Given the description of an element on the screen output the (x, y) to click on. 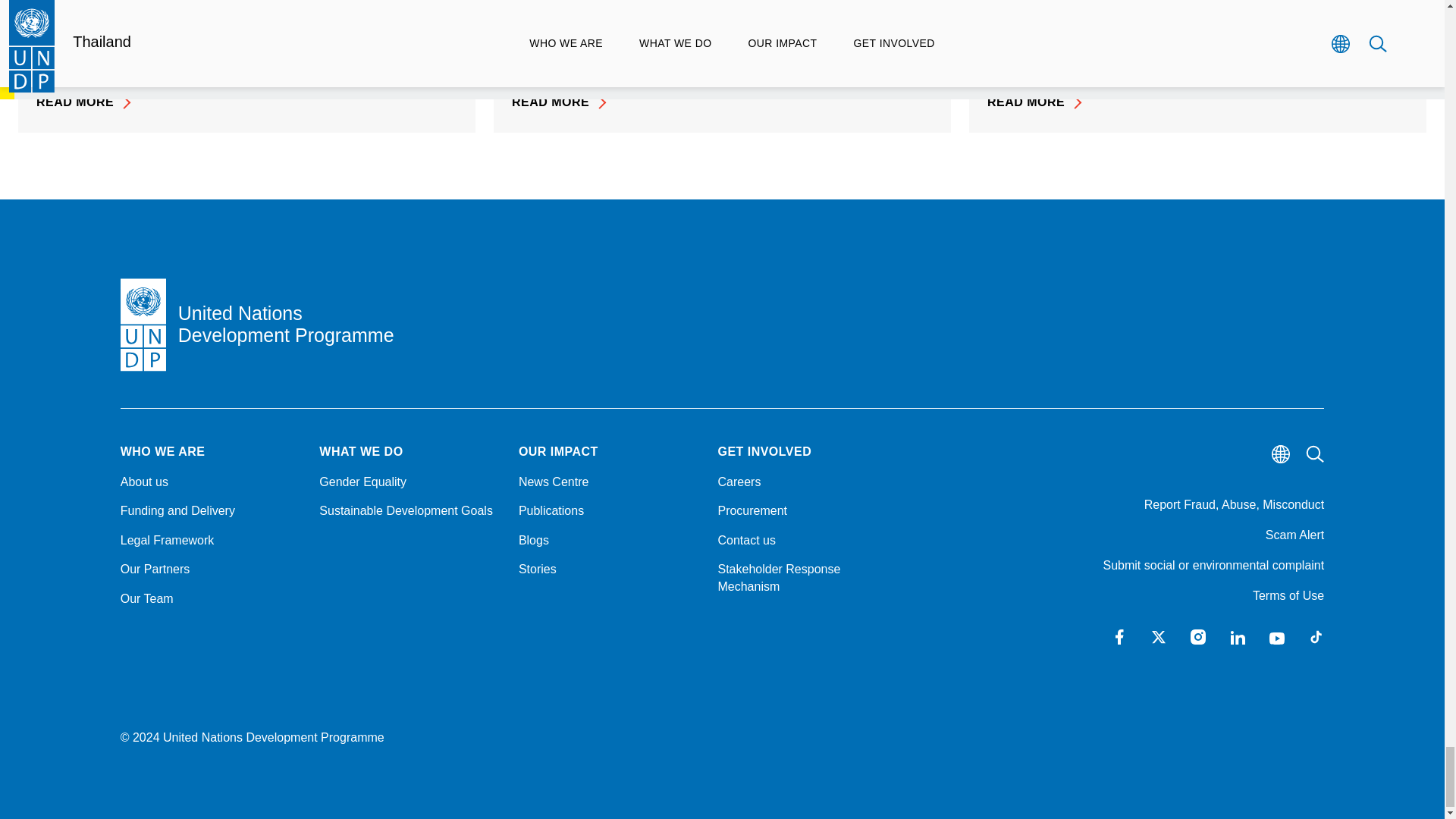
Instagram (1198, 636)
Twitter (1158, 636)
LinkedIn (1237, 636)
Youtube (1276, 636)
Facebook (1119, 636)
Tiktok (1315, 636)
